Given the description of an element on the screen output the (x, y) to click on. 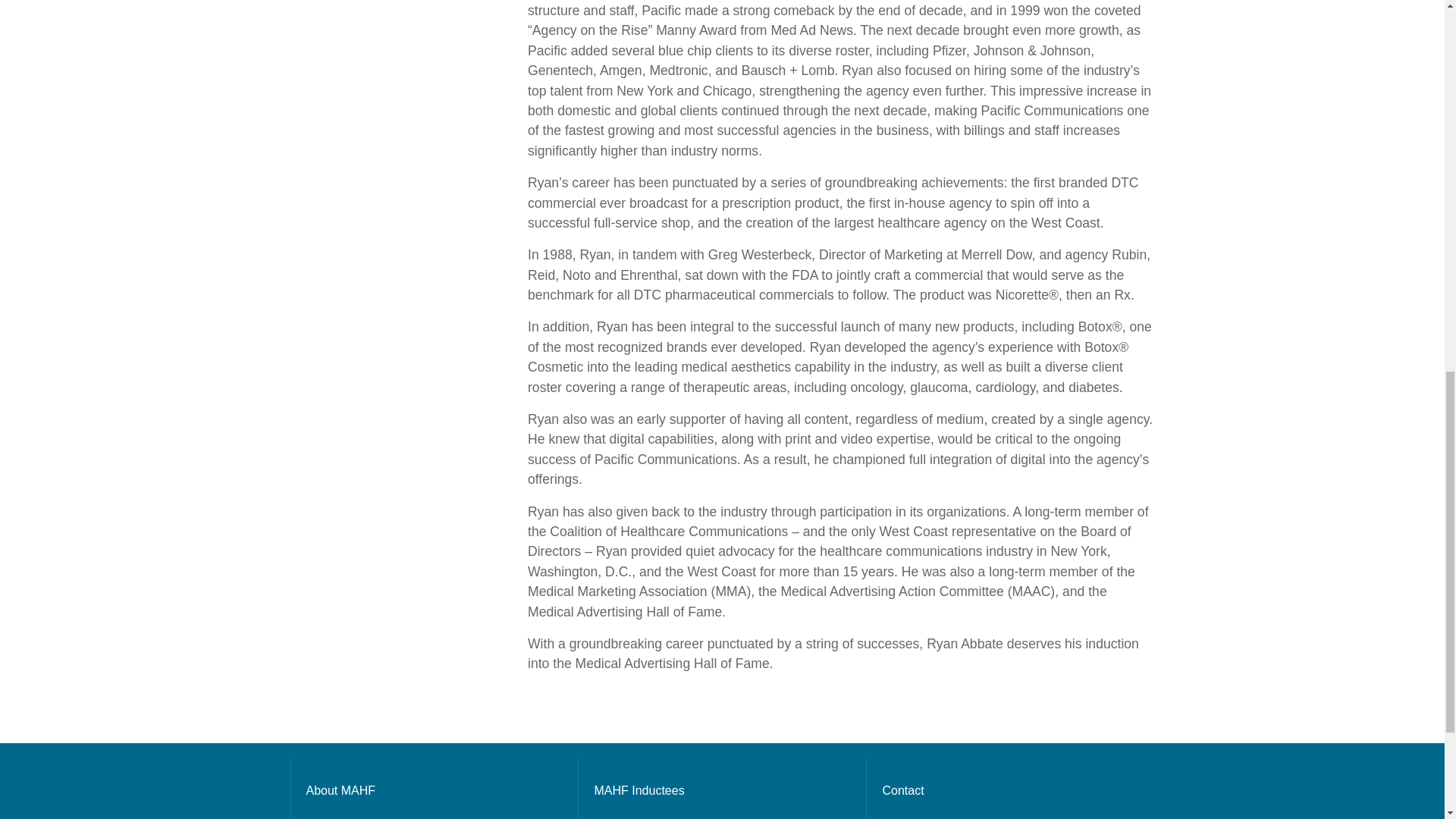
About MAHF (434, 790)
